Given the description of an element on the screen output the (x, y) to click on. 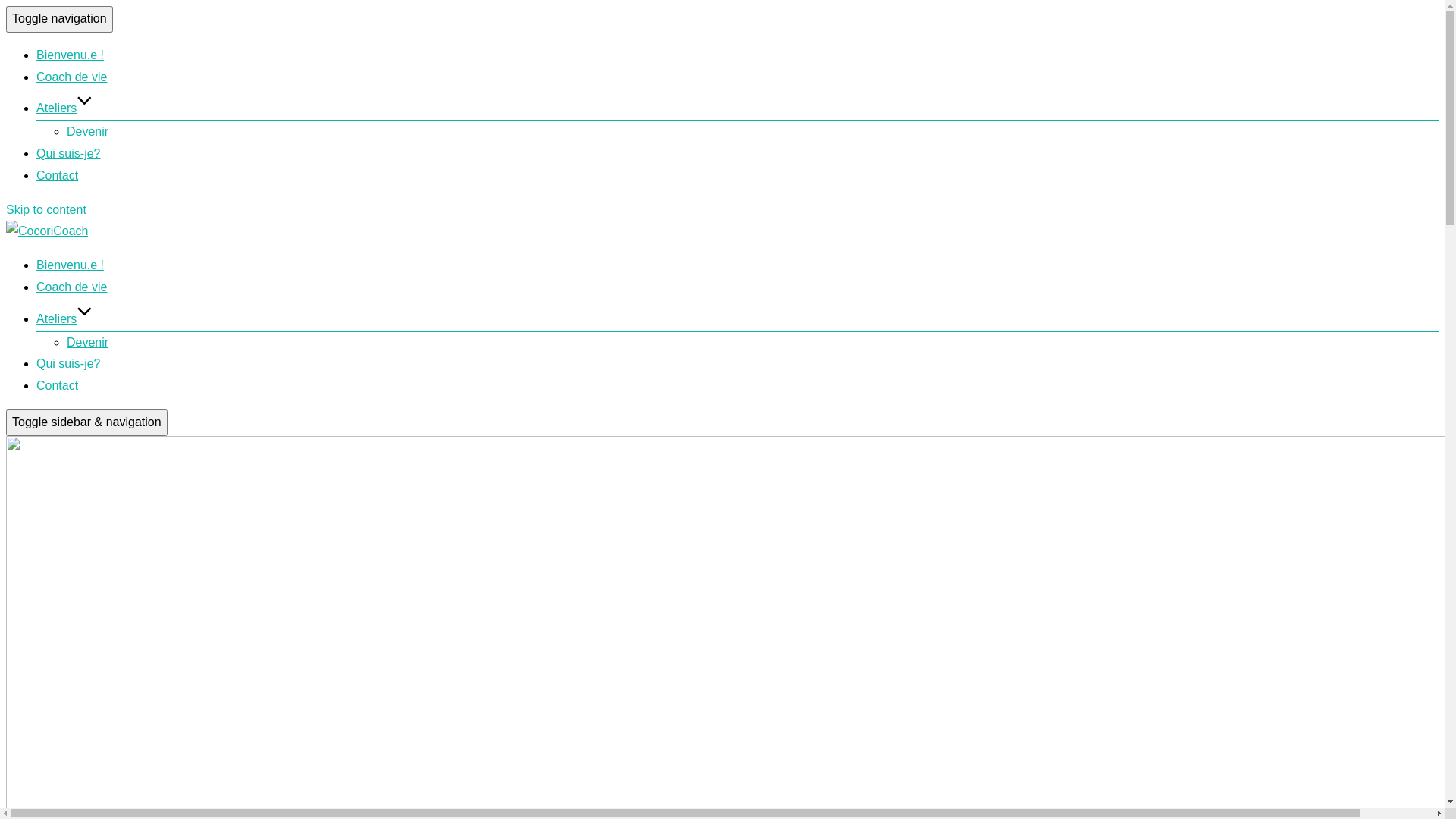
Qui suis-je? Element type: text (68, 153)
Ateliers Element type: text (64, 318)
Qui suis-je? Element type: text (68, 363)
Devenir Element type: text (87, 131)
Coach de vie Element type: text (71, 286)
Toggle navigation Element type: text (59, 19)
Devenir Element type: text (87, 341)
Bienvenu.e ! Element type: text (69, 54)
Contact Element type: text (57, 385)
Toggle sidebar & navigation Element type: text (86, 422)
Bienvenu.e ! Element type: text (69, 264)
Contact Element type: text (57, 175)
Ateliers Element type: text (64, 107)
Coach de vie Element type: text (71, 76)
Skip to content Element type: text (46, 209)
